Given the description of an element on the screen output the (x, y) to click on. 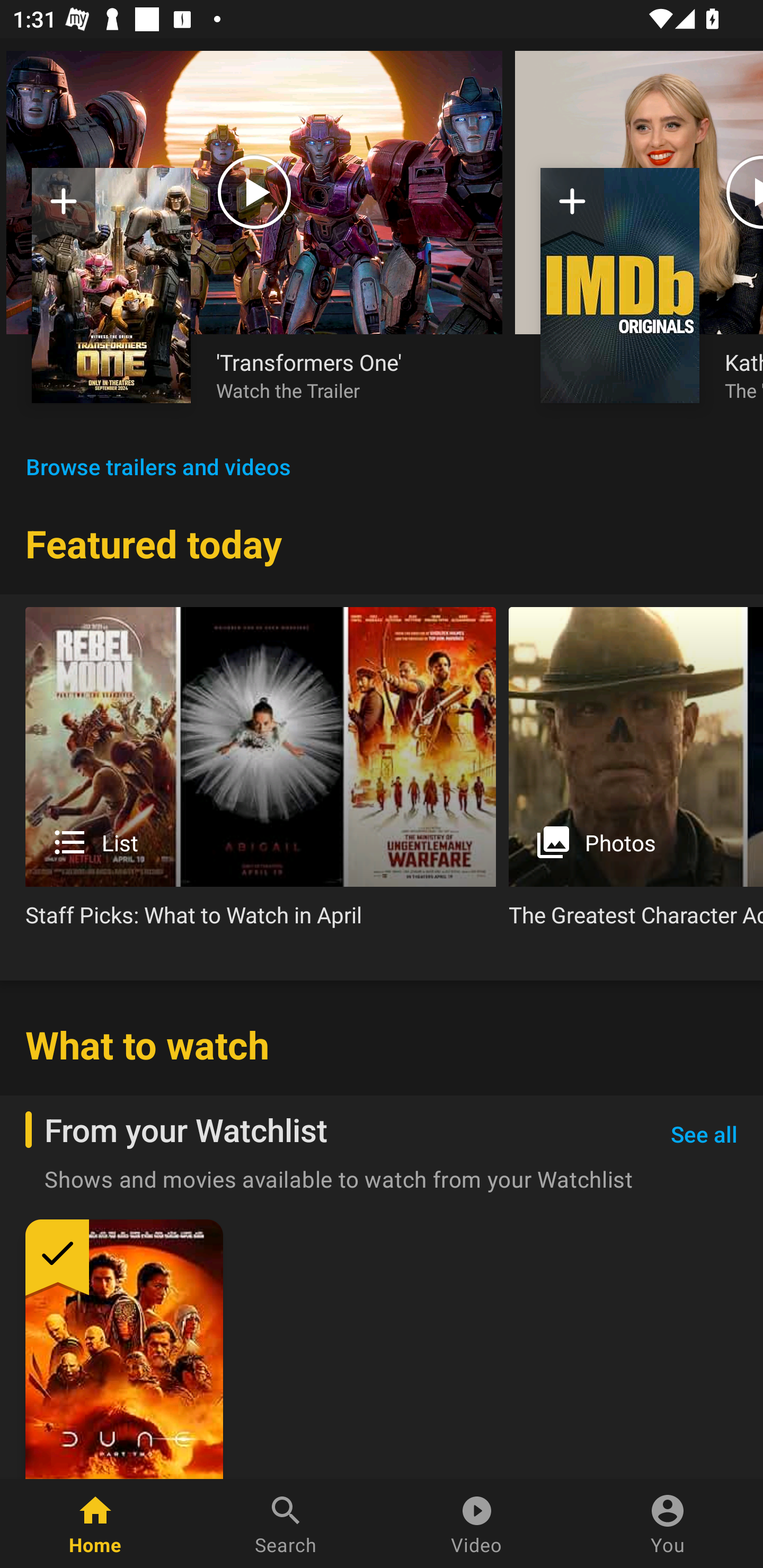
Not in watchlist (111, 284)
Not in watchlist (63, 207)
Not in watchlist (619, 284)
Not in watchlist (572, 207)
'Transformers One' Watch the Trailer (345, 374)
List Staff Picks: What to Watch in April (260, 774)
Photos The Greatest Character Actors of All Time (635, 774)
See all See all From your Watchlist (703, 1134)
Search (285, 1523)
Video (476, 1523)
You (667, 1523)
